Given the description of an element on the screen output the (x, y) to click on. 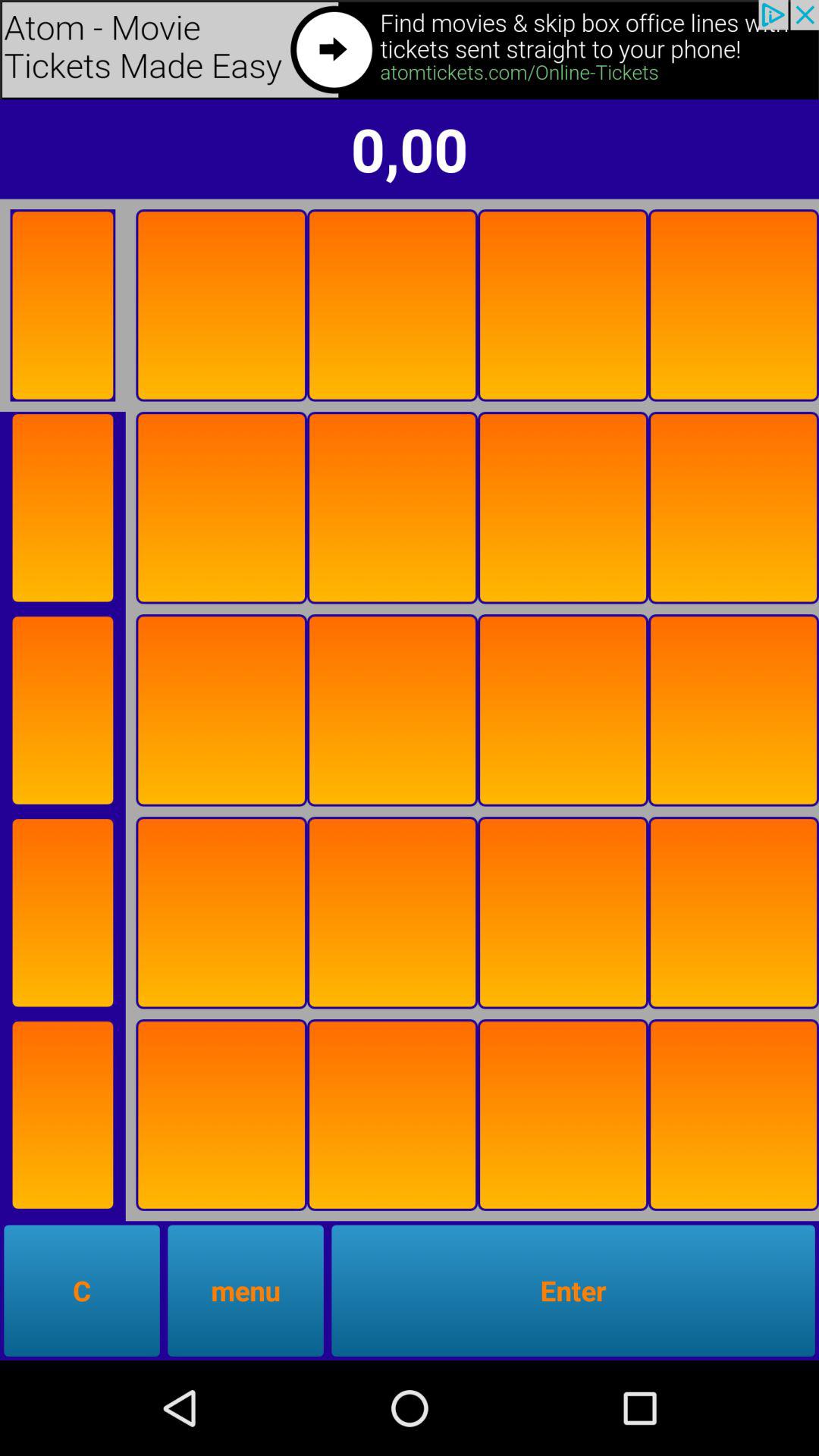
open advertisement (409, 49)
